Given the description of an element on the screen output the (x, y) to click on. 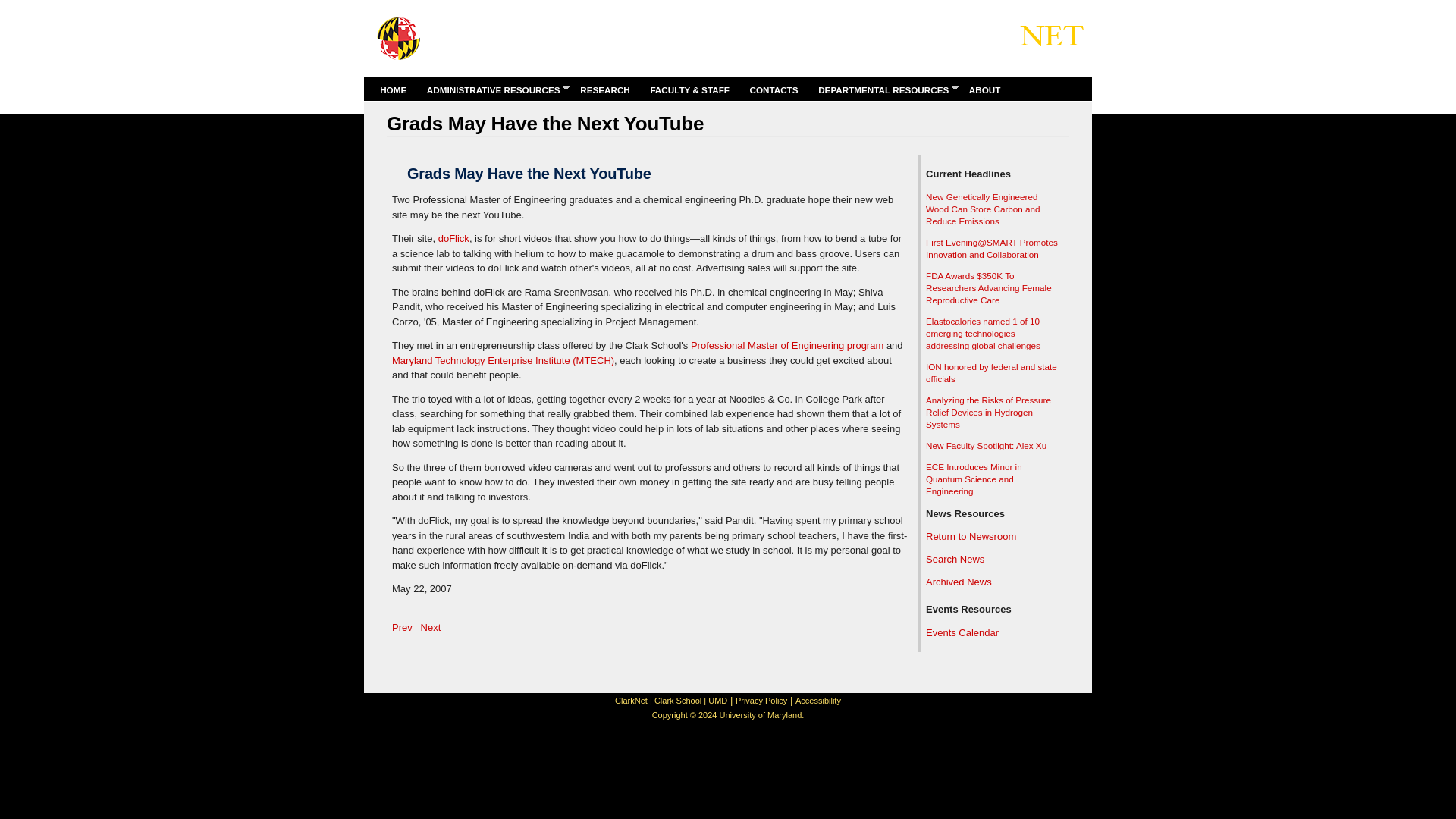
Next (430, 627)
Professional Master of Engineering program (786, 345)
HOME (392, 89)
CONTACTS (773, 89)
Prev (401, 627)
Skip to main content (700, 1)
doFlick (453, 238)
ABOUT (984, 89)
